Given the description of an element on the screen output the (x, y) to click on. 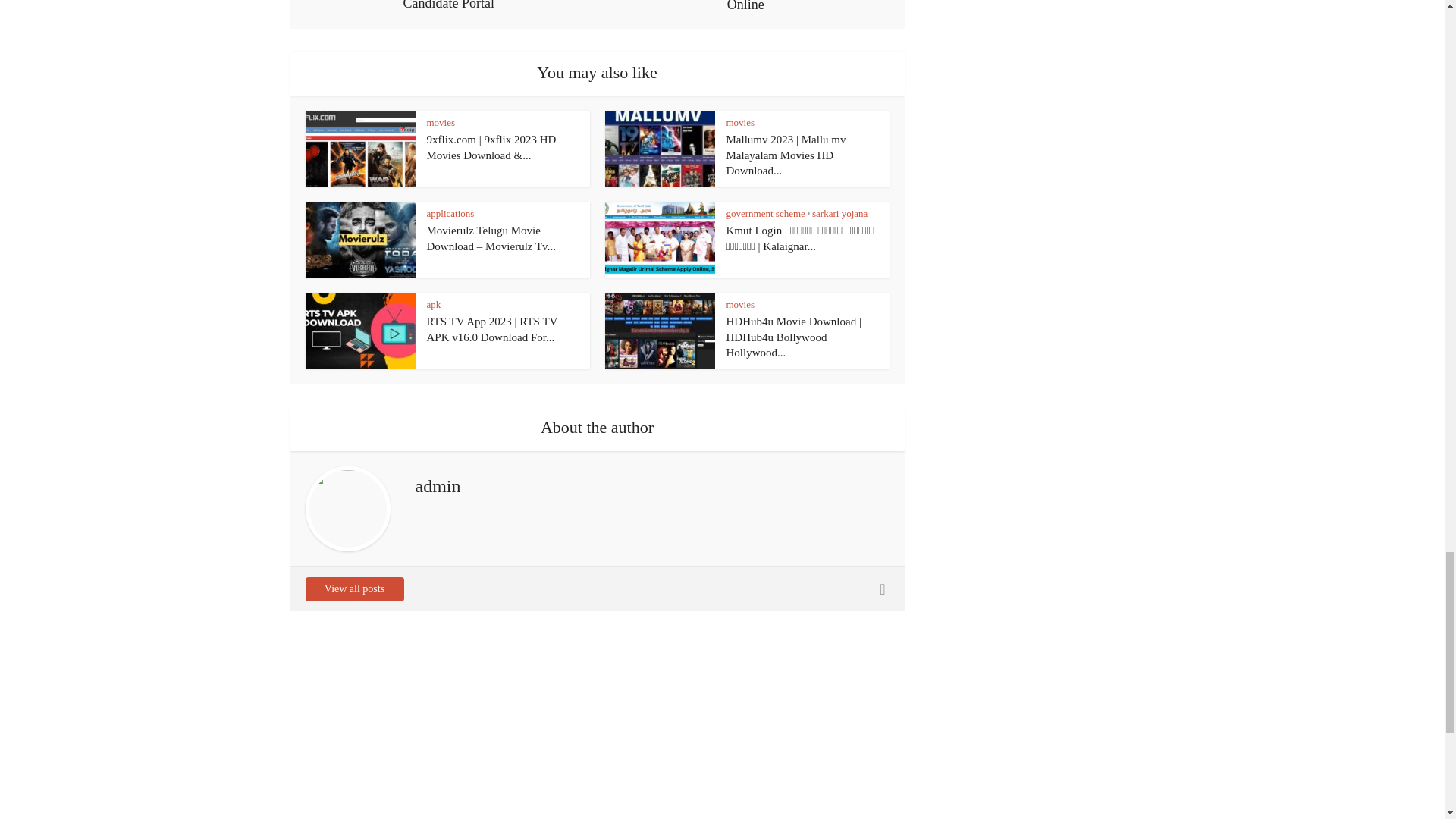
applications (450, 213)
View all posts (353, 589)
government scheme (765, 213)
movies (740, 122)
movies (740, 304)
apk (433, 304)
movies (440, 122)
sarkari yojana (839, 213)
